Given the description of an element on the screen output the (x, y) to click on. 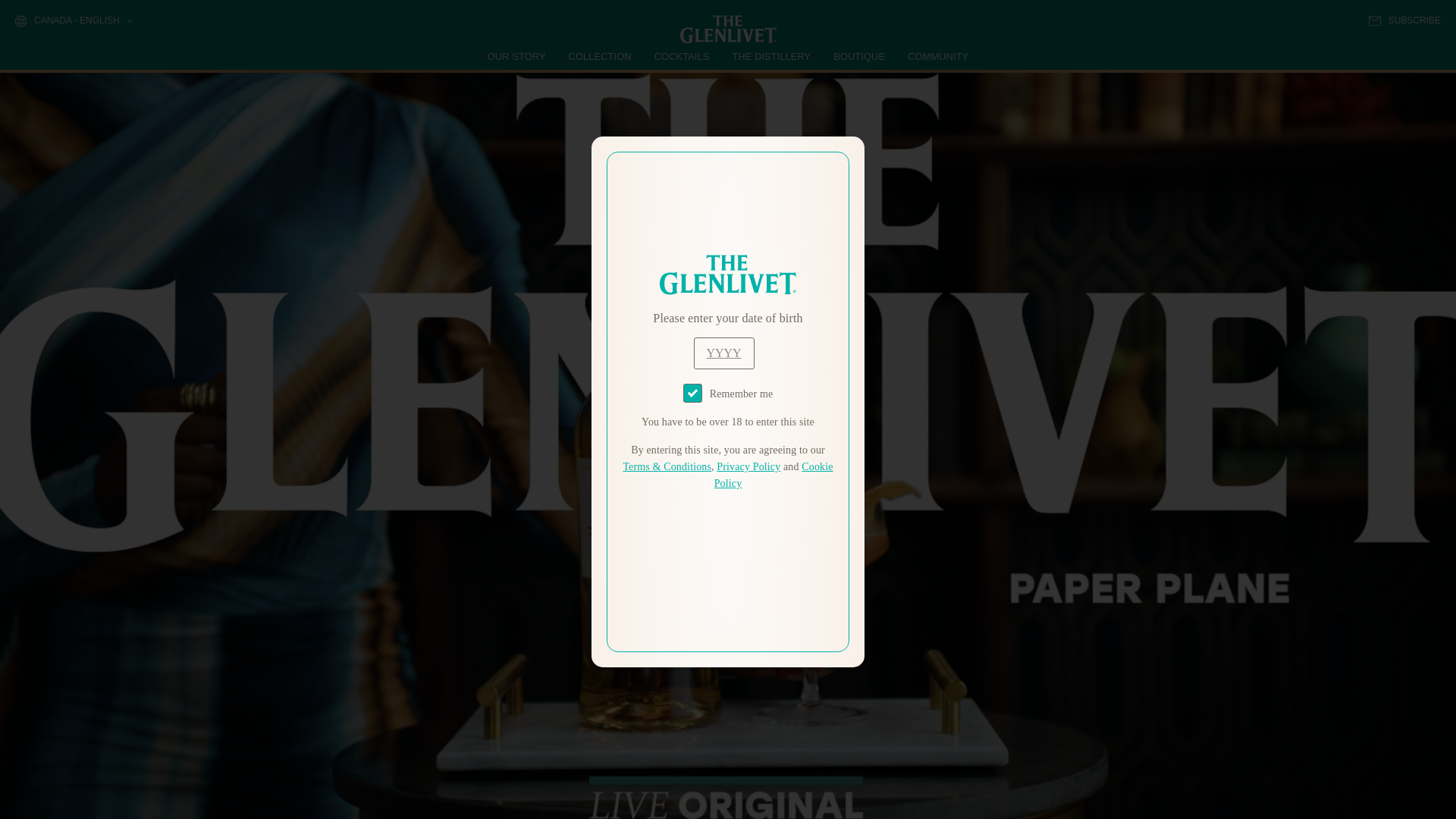
COCKTAILS (681, 56)
year (723, 353)
SUBSCRIBE (1404, 20)
COLLECTION (600, 56)
COMMUNITY (937, 56)
CANADA - ENGLISH (73, 21)
BOUTIQUE (858, 56)
Cookie Policy (773, 474)
THE DISTILLERY (771, 56)
OUR STORY (516, 56)
Privacy Policy (748, 466)
